Given the description of an element on the screen output the (x, y) to click on. 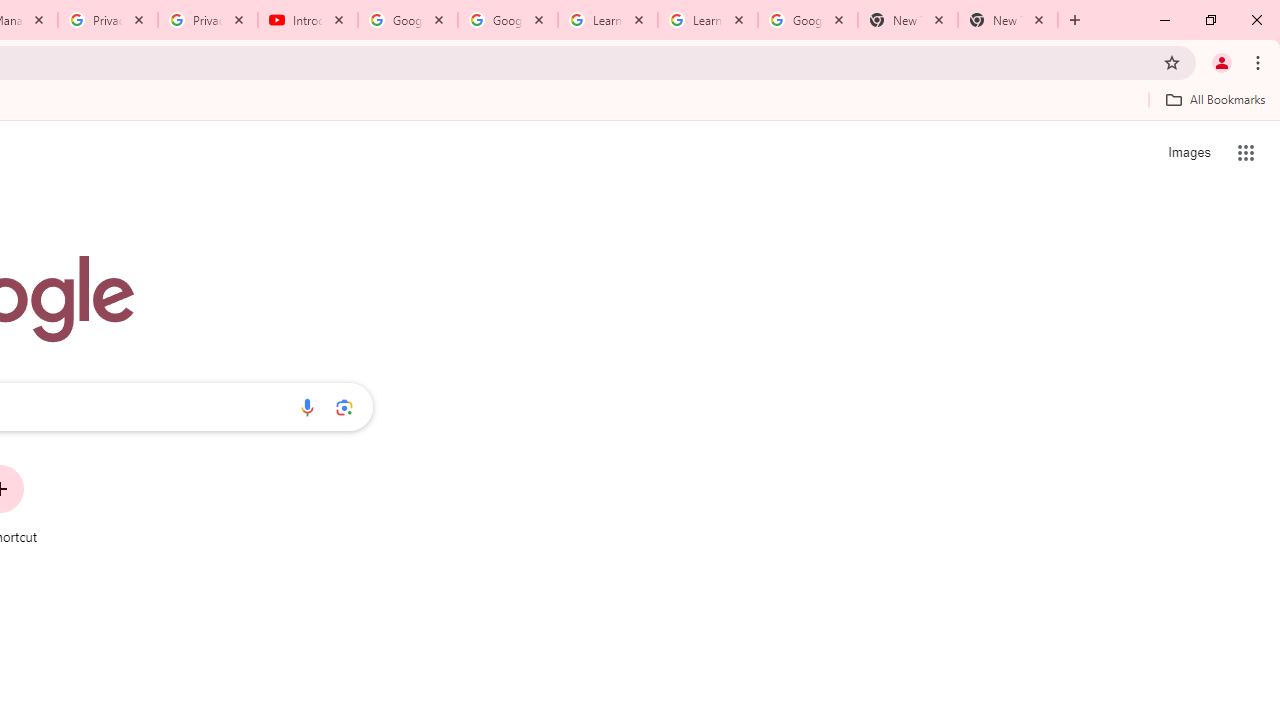
Search by image (344, 407)
Search by voice (307, 407)
Introduction | Google Privacy Policy - YouTube (308, 20)
